Given the description of an element on the screen output the (x, y) to click on. 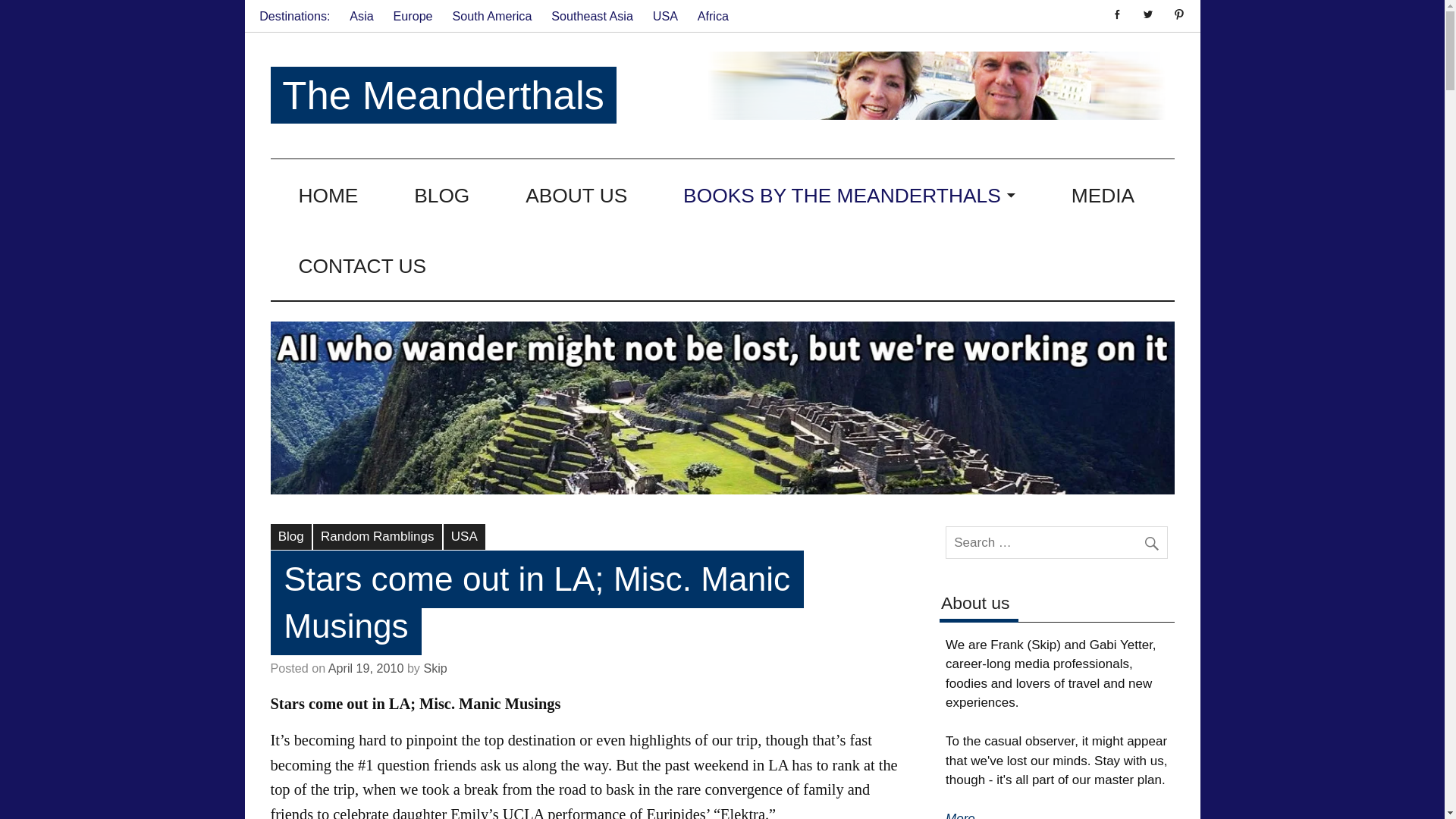
Random Ramblings (377, 536)
Europe (413, 15)
Africa (712, 15)
The Meanderthals (443, 94)
CONTACT US (361, 265)
BOOKS BY THE MEANDERTHALS (849, 194)
HOME (327, 194)
Blog (290, 536)
BLOG (441, 194)
Skip (434, 667)
USA (665, 15)
Asia (360, 15)
4:02 pm (366, 667)
View all posts by Skip (434, 667)
April 19, 2010 (366, 667)
